Given the description of an element on the screen output the (x, y) to click on. 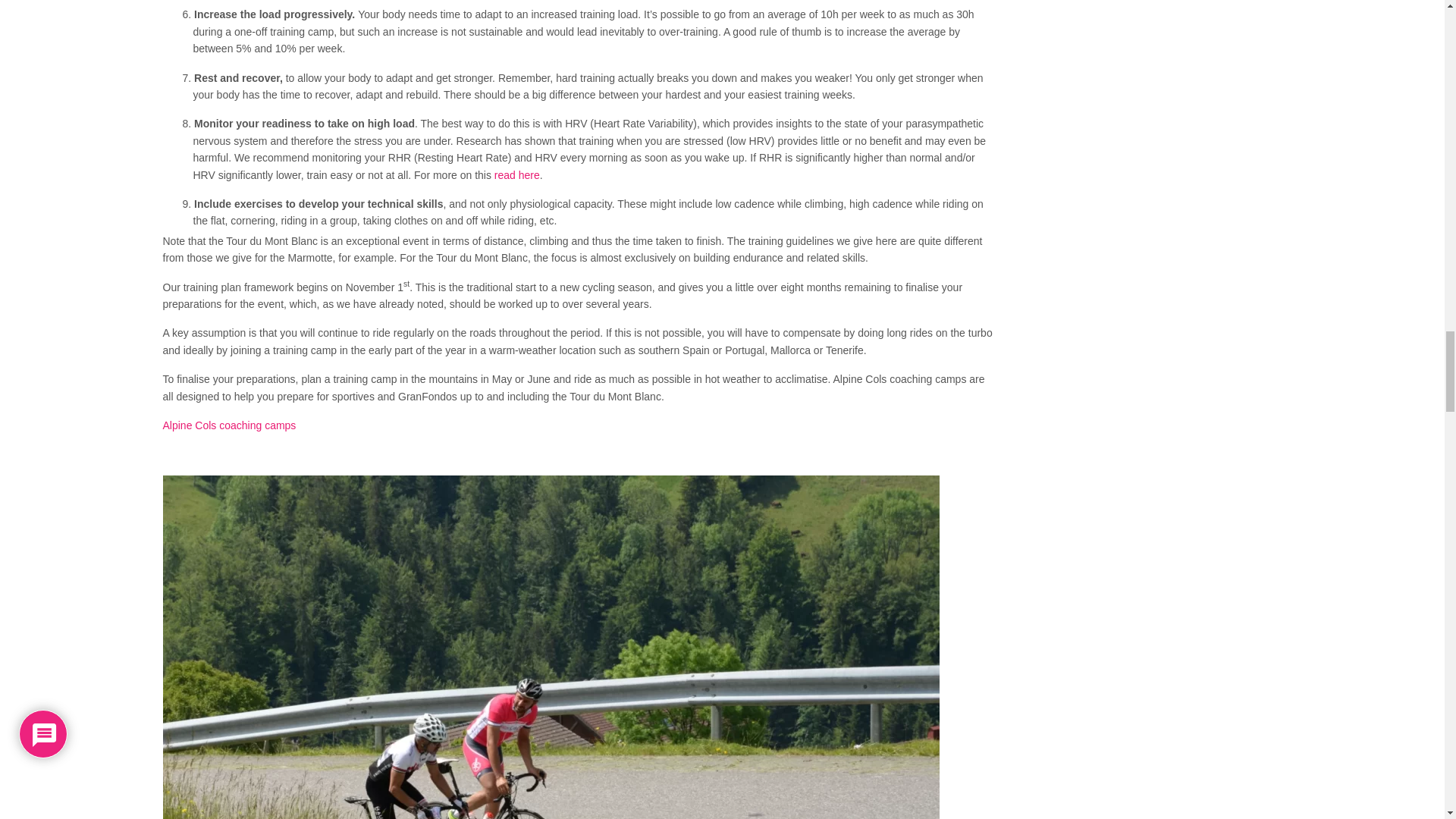
Alpine Cols coaching camps (228, 425)
read here (517, 174)
